Given the description of an element on the screen output the (x, y) to click on. 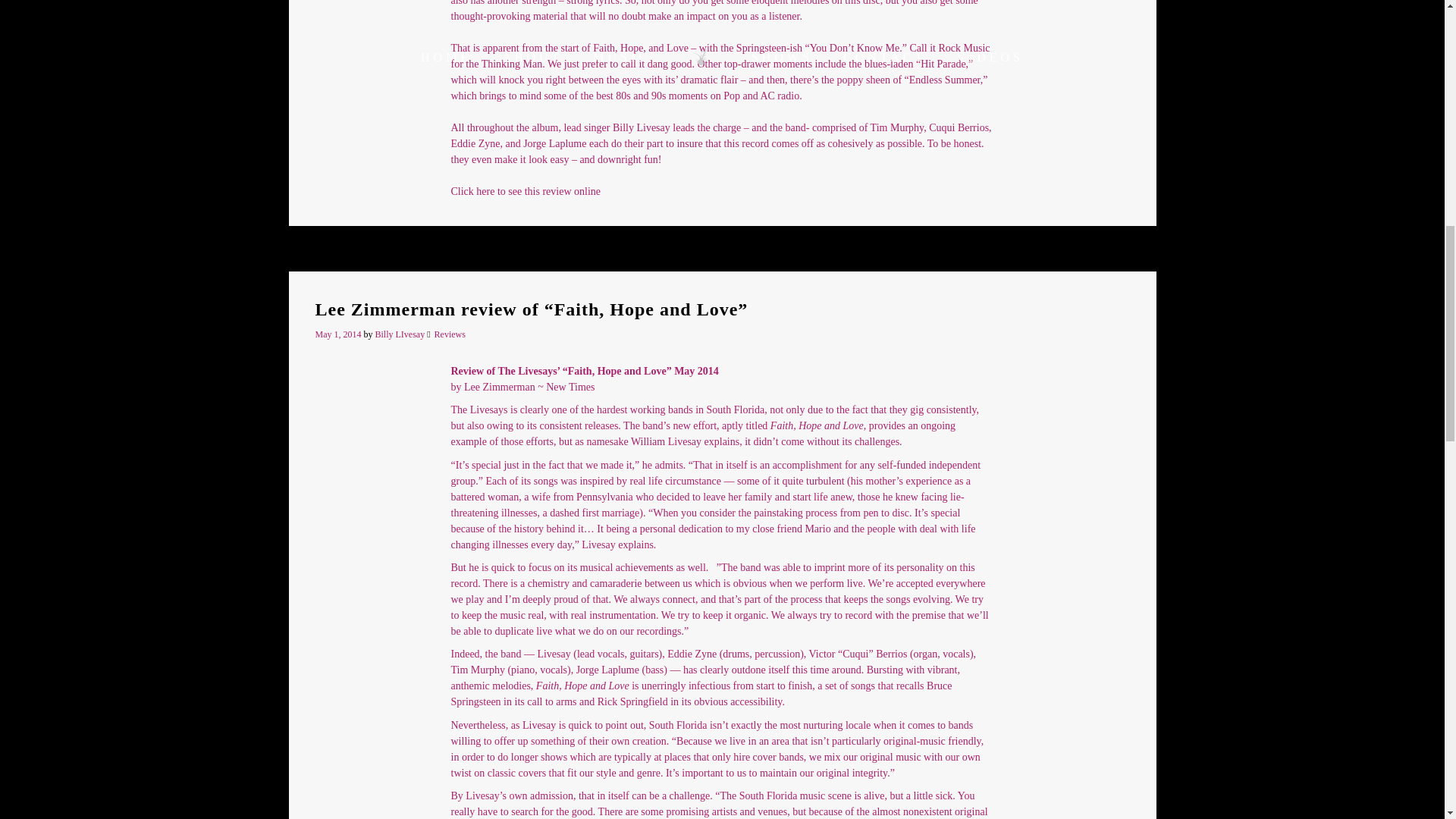
Billy LIvesay (399, 334)
May 1, 2014 (339, 334)
Click here to see this review online (524, 190)
Reviews (449, 333)
